Given the description of an element on the screen output the (x, y) to click on. 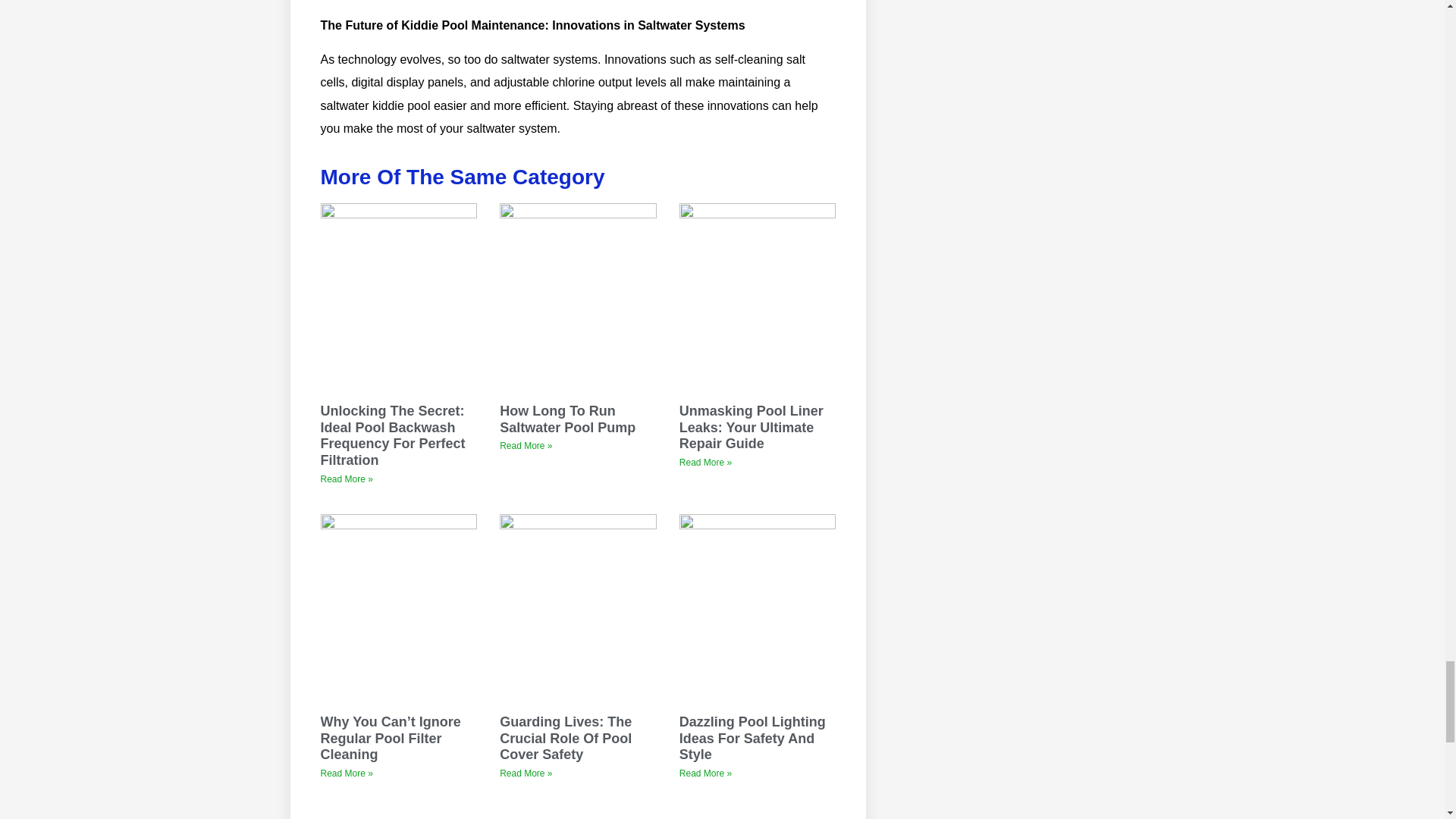
How Long To Run Saltwater Pool Pump (566, 418)
Guarding Lives: The Crucial Role Of Pool Cover Safety (565, 738)
Dazzling Pool Lighting Ideas For Safety And Style (752, 738)
Unmasking Pool Liner Leaks: Your Ultimate Repair Guide (751, 427)
